Given the description of an element on the screen output the (x, y) to click on. 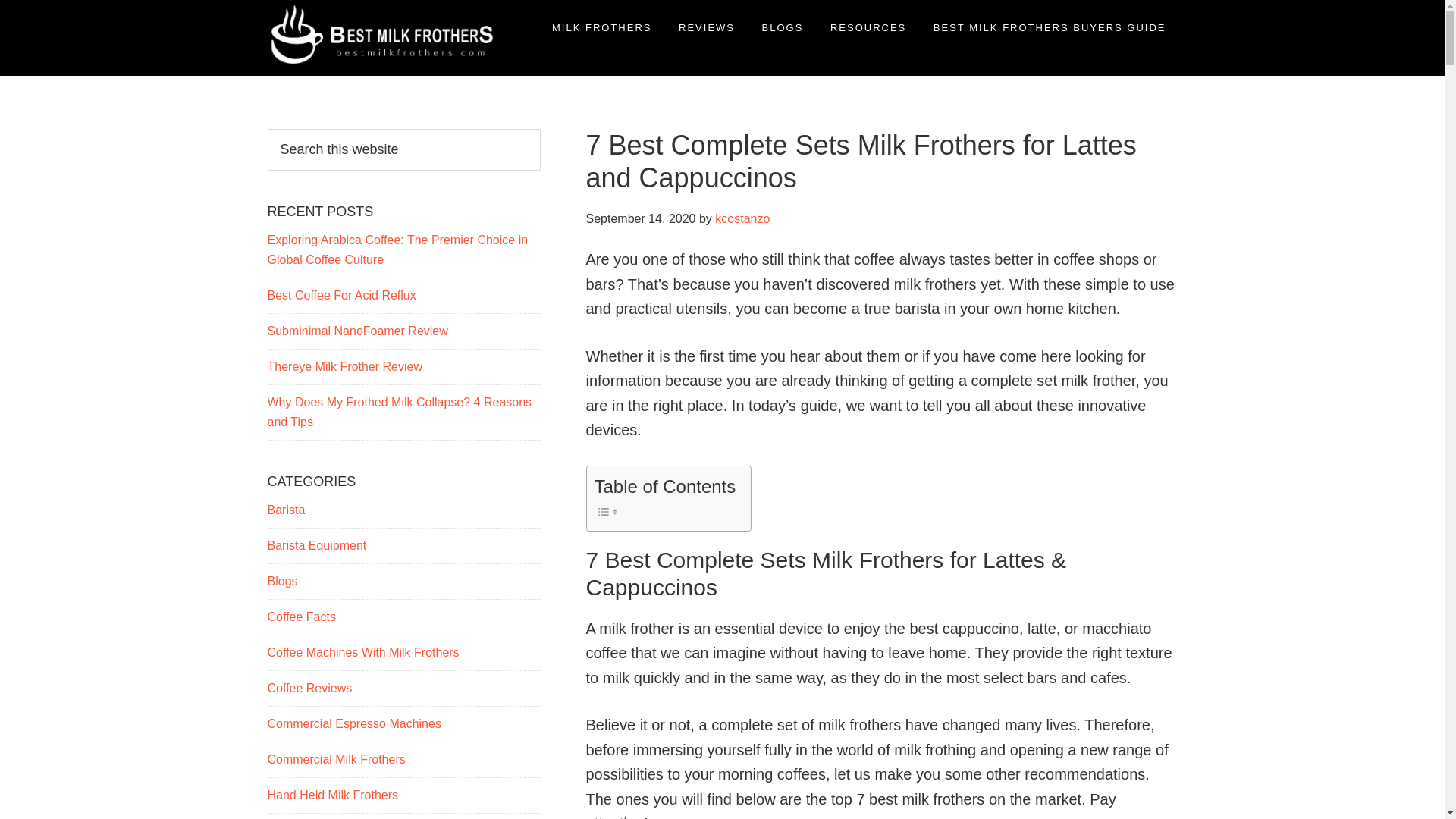
MILK FROTHERS (601, 27)
RESOURCES (867, 27)
BLOGS (783, 27)
REVIEWS (705, 27)
Best Milk Frothers (300, 98)
kcostanzo (742, 218)
BEST MILK FROTHERS BUYERS GUIDE (1049, 27)
